Given the description of an element on the screen output the (x, y) to click on. 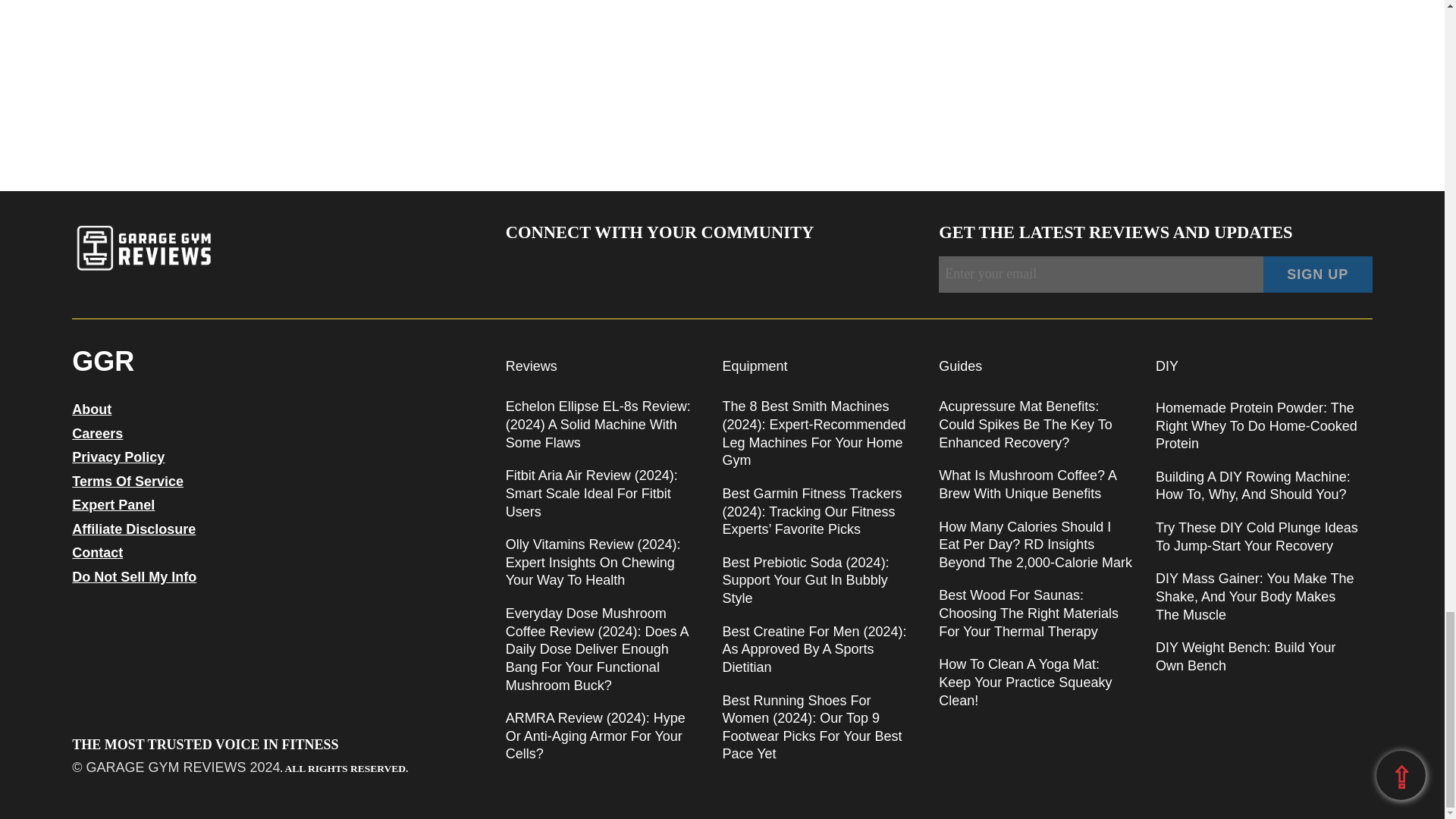
Equipment (754, 365)
Reviews (531, 365)
Sign Up (1318, 274)
